Given the description of an element on the screen output the (x, y) to click on. 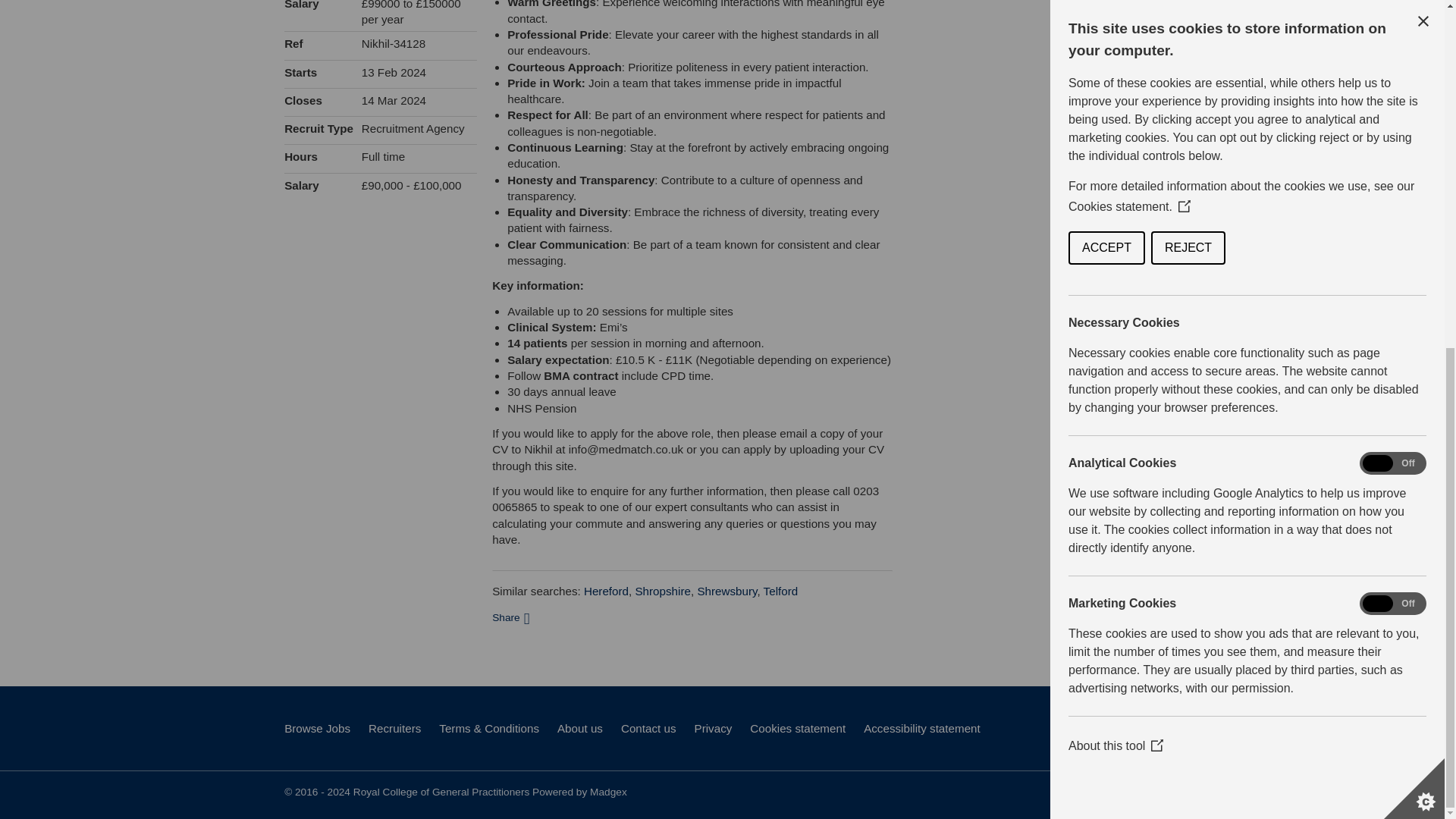
Hereford (605, 590)
Recruiters (394, 727)
Share (510, 615)
Browse Jobs (316, 727)
Telford (779, 590)
Shrewsbury (727, 590)
Shropshire (662, 590)
